Given the description of an element on the screen output the (x, y) to click on. 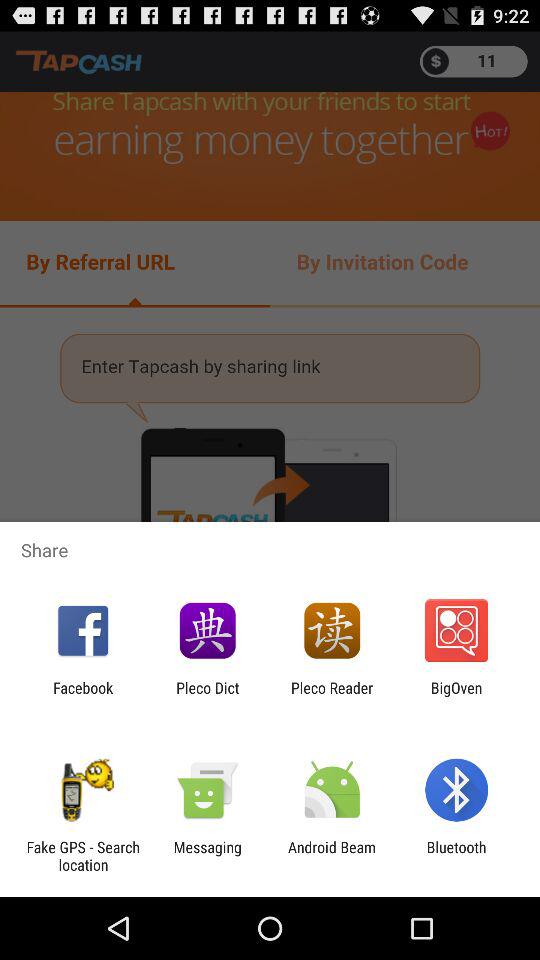
swipe to the pleco reader item (331, 696)
